Given the description of an element on the screen output the (x, y) to click on. 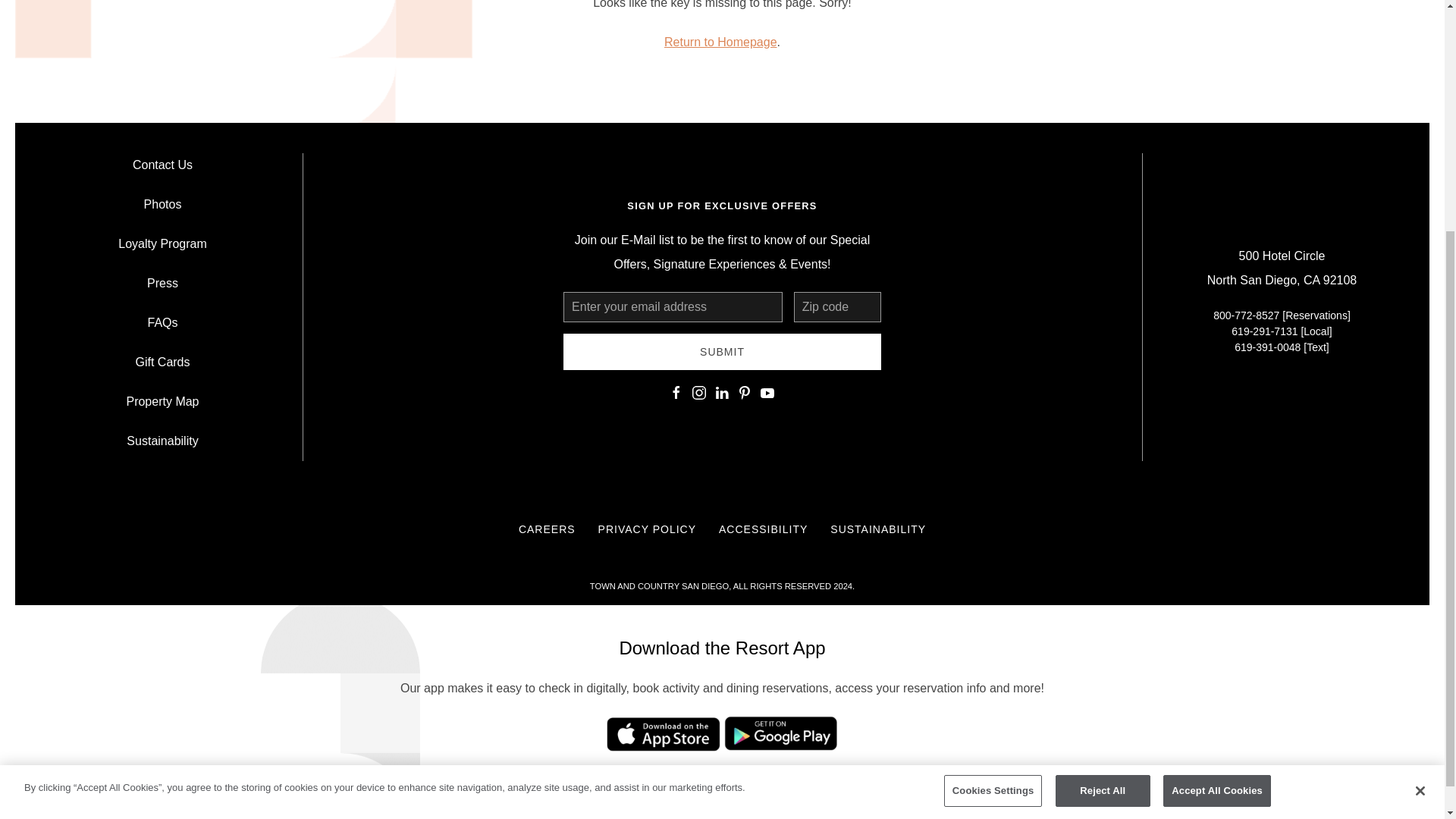
Email Address (673, 306)
Return to Homepage (720, 42)
zip (836, 306)
